Given the description of an element on the screen output the (x, y) to click on. 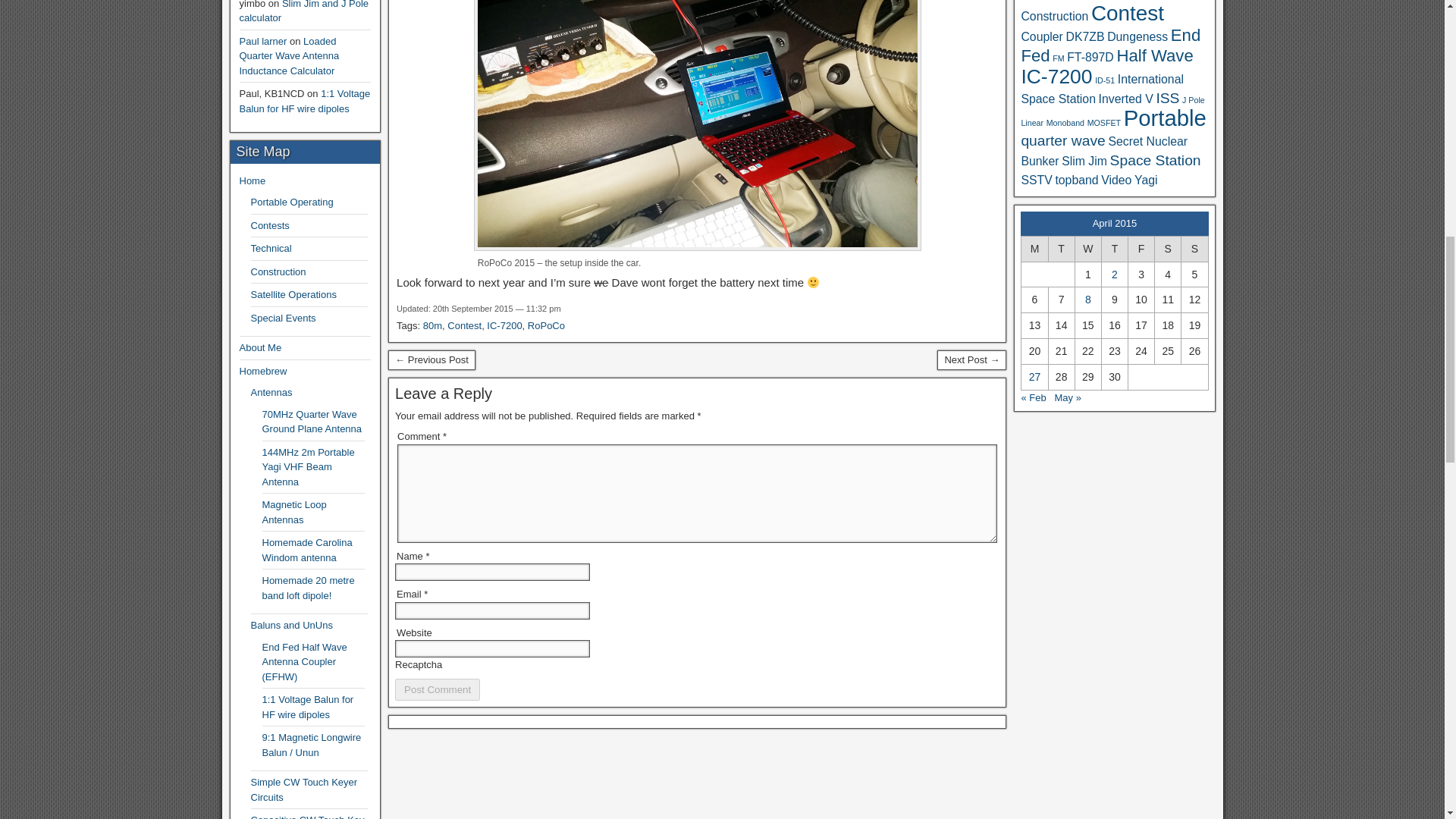
Thursday (1113, 248)
Saturday (1167, 248)
Raspberry Pi as a server (432, 360)
Monday (1035, 248)
Post Comment (437, 689)
Operation Bunker (971, 360)
Tuesday (1061, 248)
Sunday (1194, 248)
Wednesday (1087, 248)
Friday (1141, 248)
